Given the description of an element on the screen output the (x, y) to click on. 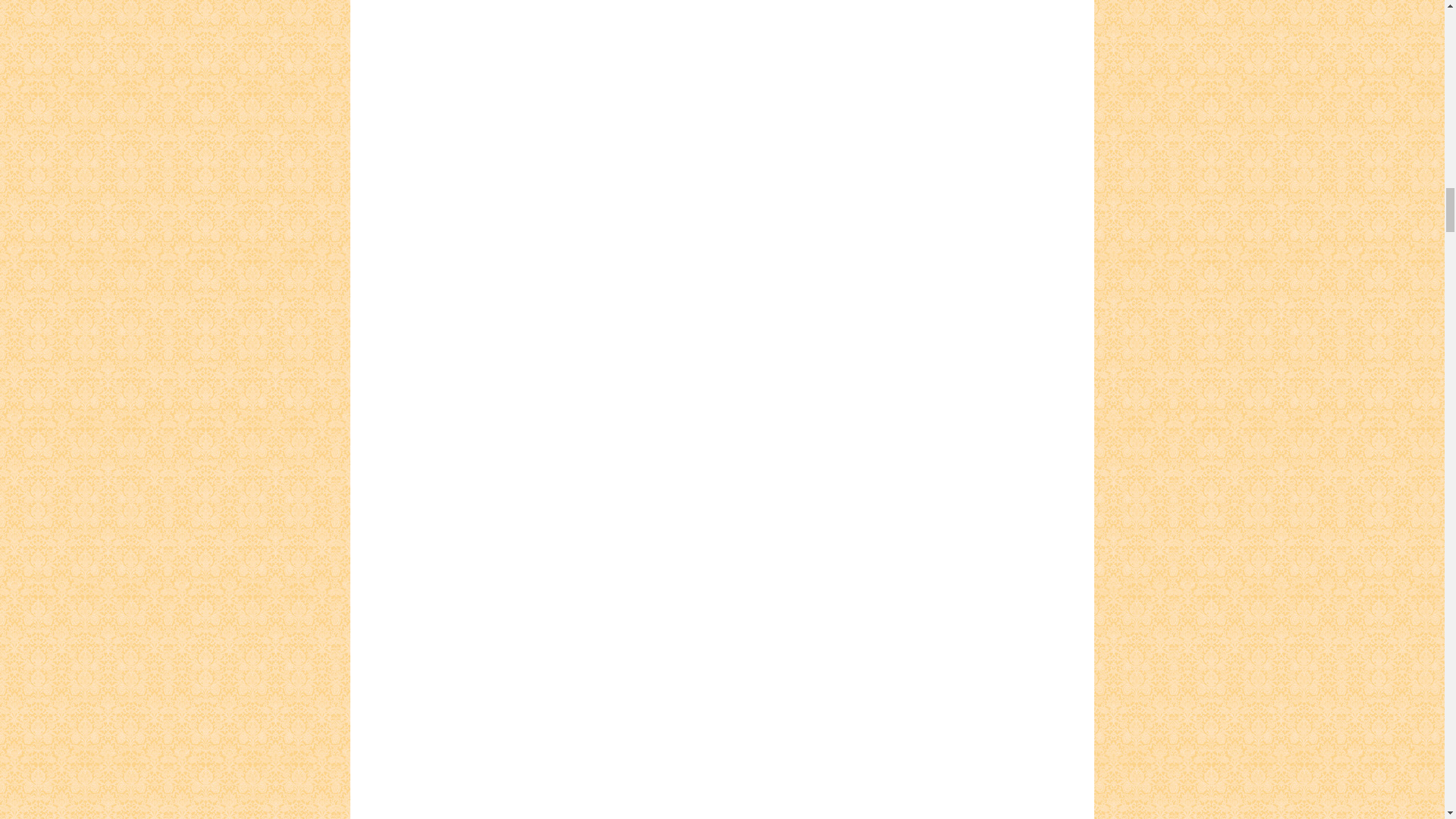
Connecticut beach photographer (585, 816)
